Given the description of an element on the screen output the (x, y) to click on. 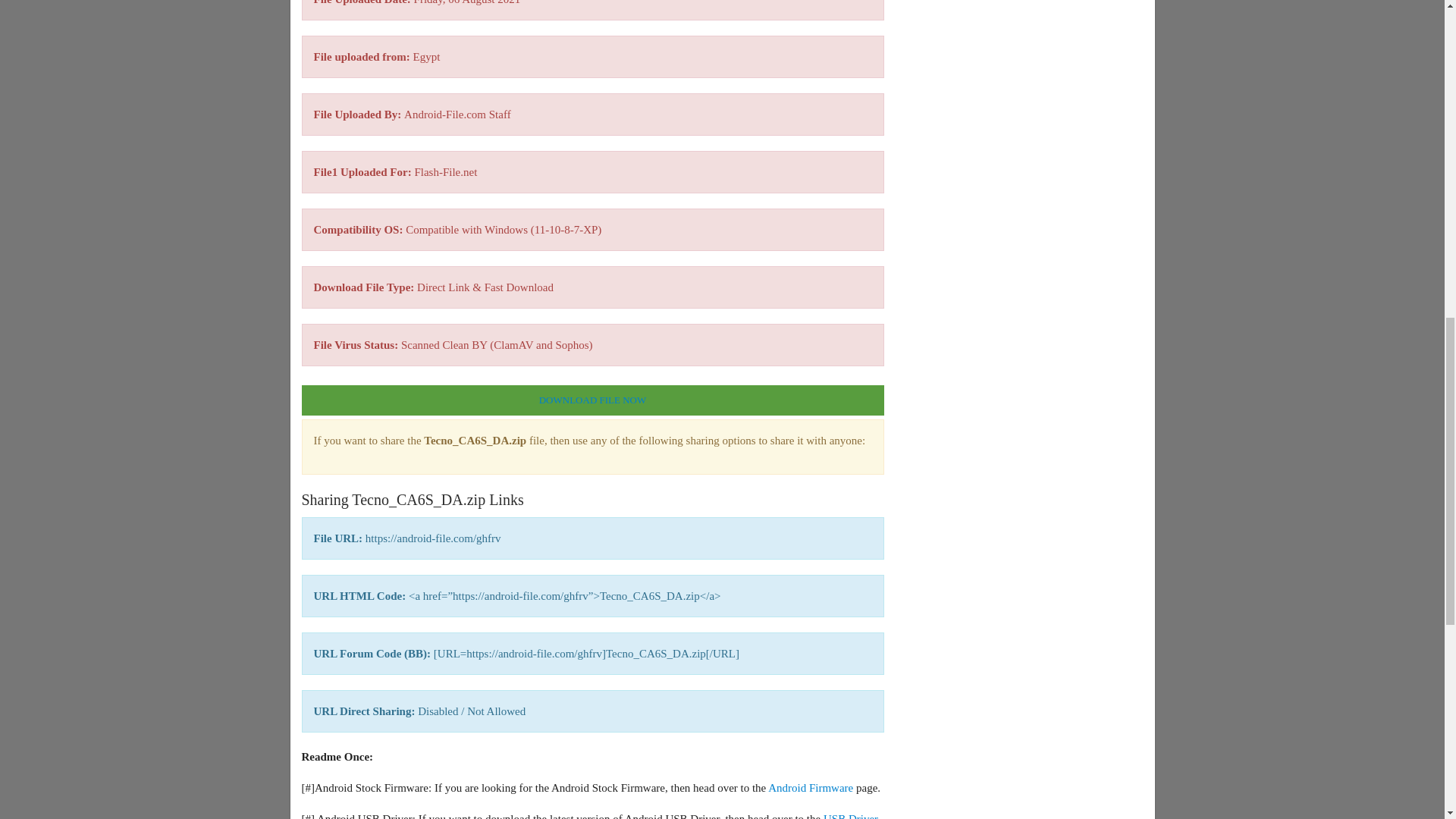
USB Driver (850, 816)
Android Firmware (810, 787)
DOWNLOAD FILE NOW (592, 399)
